Given the description of an element on the screen output the (x, y) to click on. 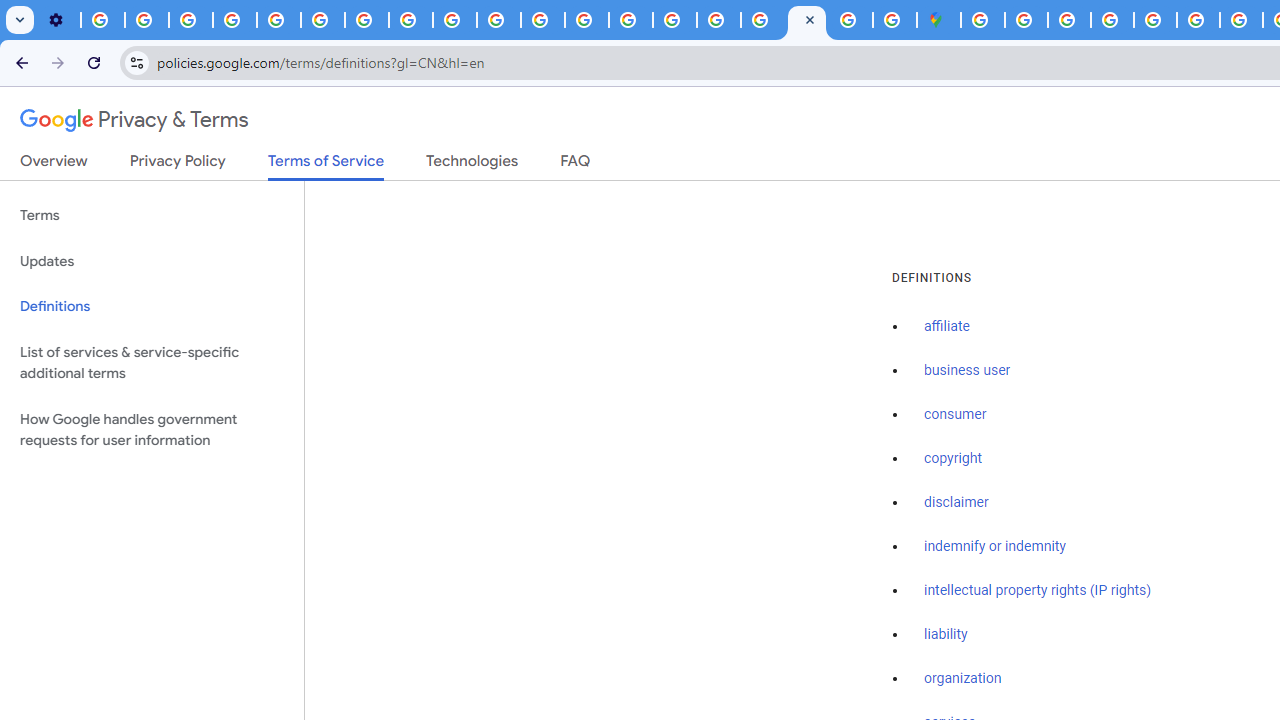
Google Maps (938, 20)
consumer (955, 415)
YouTube (322, 20)
https://scholar.google.com/ (542, 20)
Privacy Checkup (498, 20)
Sign in - Google Accounts (762, 20)
disclaimer (956, 502)
organization (963, 679)
Google Account Help (234, 20)
Privacy Checkup (454, 20)
